Given the description of an element on the screen output the (x, y) to click on. 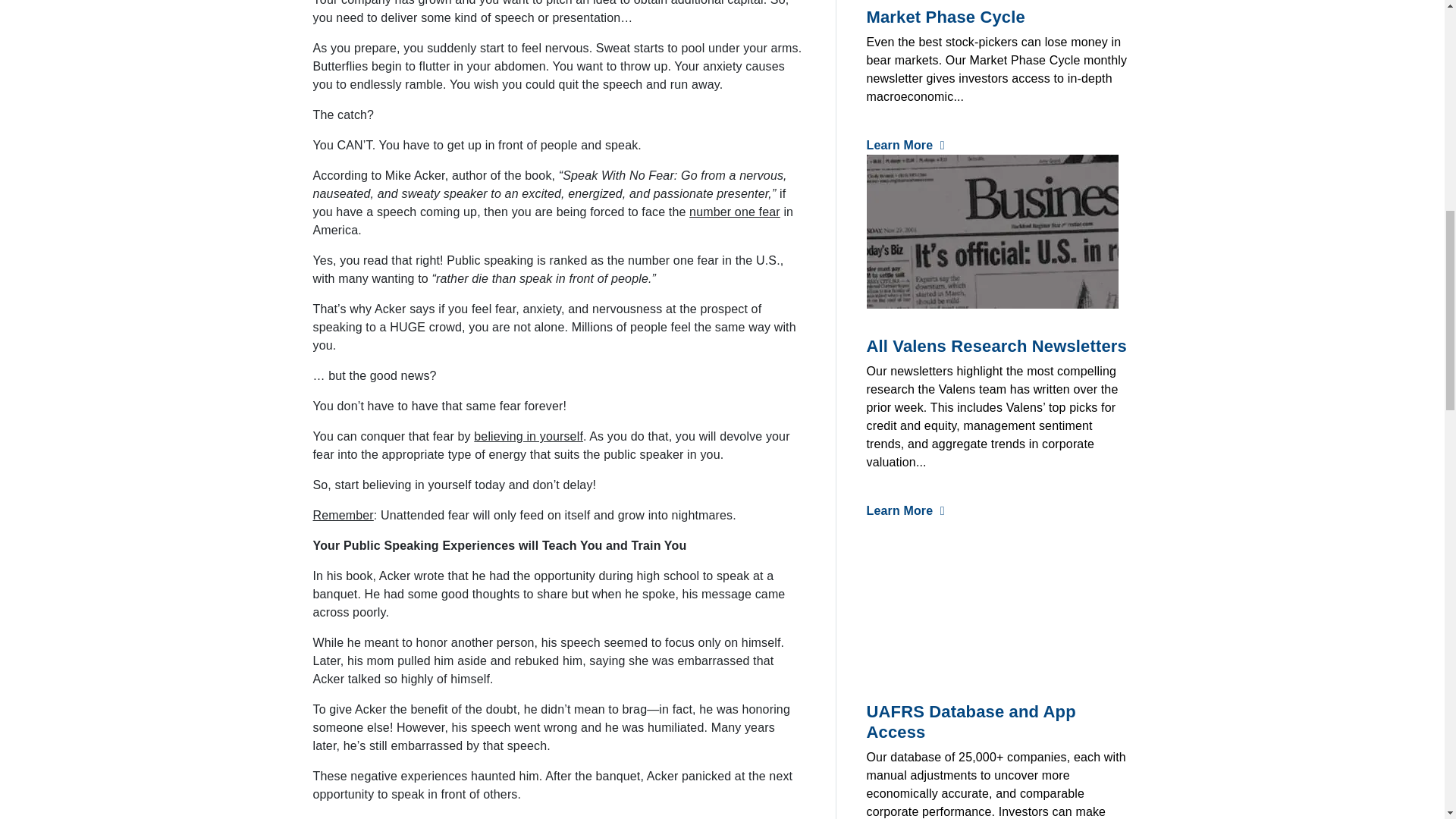
Learn More (904, 144)
Learn More (904, 510)
